Given the description of an element on the screen output the (x, y) to click on. 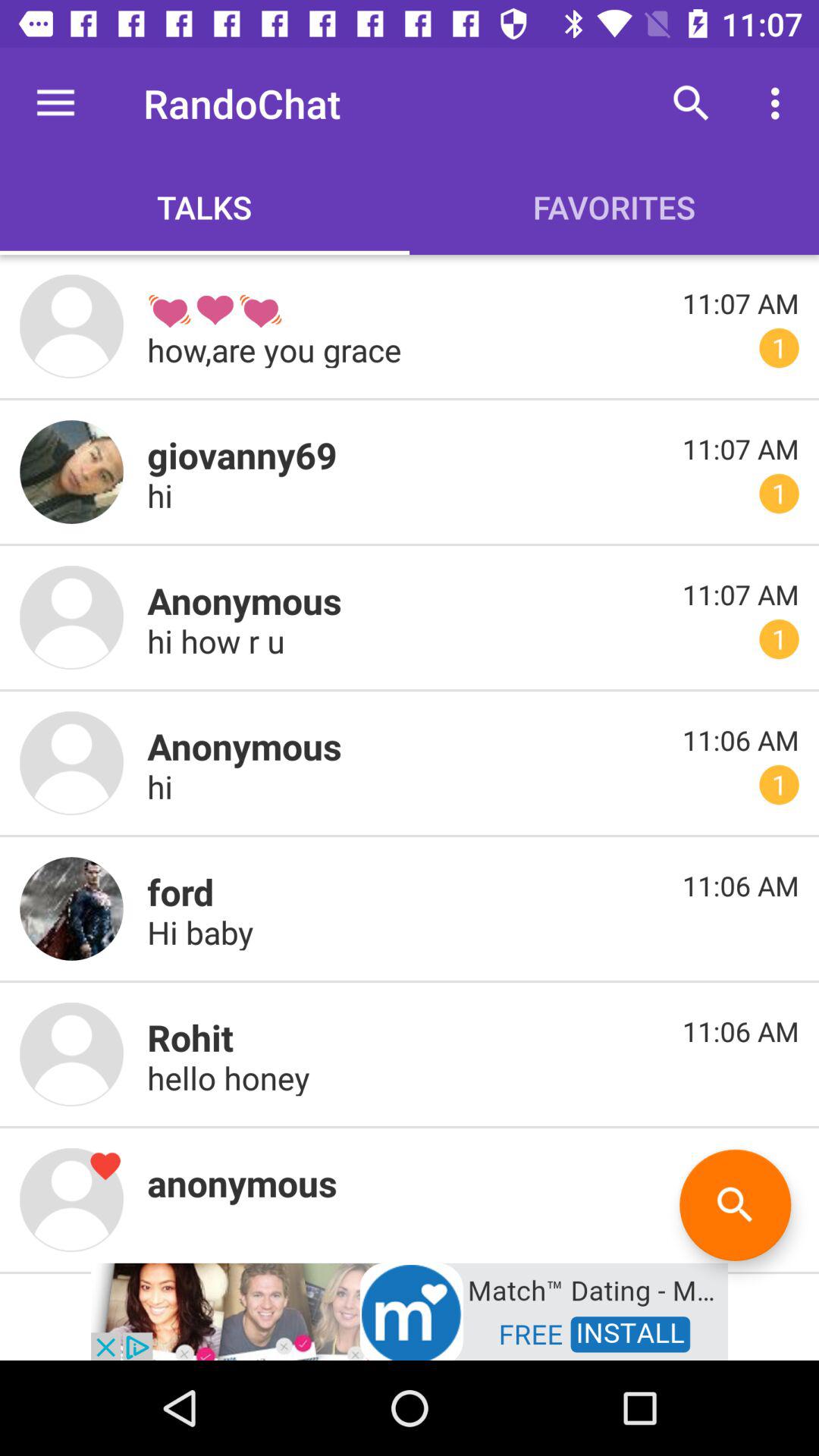
go to advertisement (409, 1310)
